Given the description of an element on the screen output the (x, y) to click on. 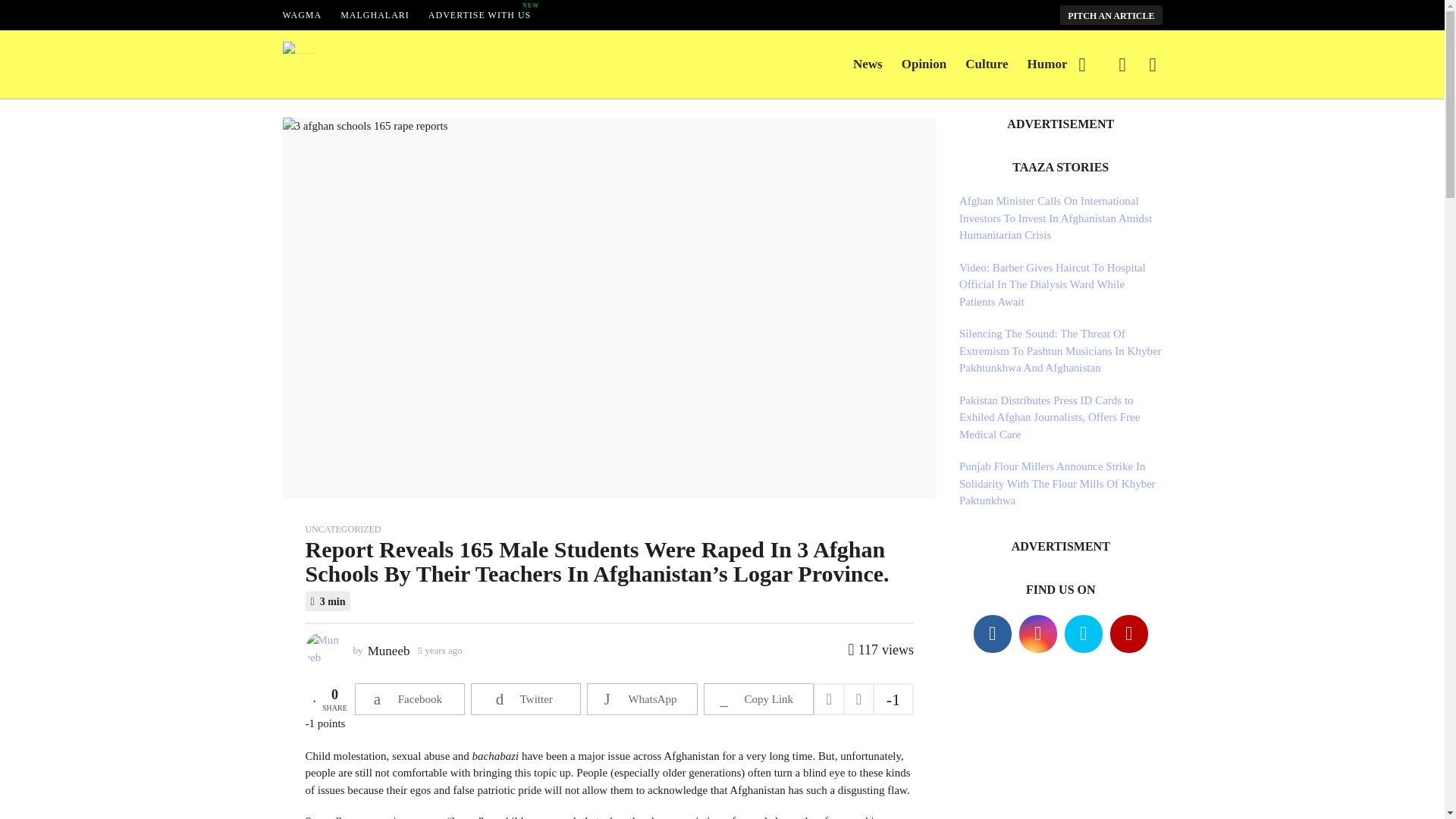
PITCH AN ARTICLE (1110, 14)
MALGHALARI (374, 15)
Share on Twitter (525, 698)
Humor (1047, 64)
Share on Facebook (409, 698)
News (867, 64)
WAGMA (479, 15)
Opinion (301, 15)
Culture (924, 64)
